Given the description of an element on the screen output the (x, y) to click on. 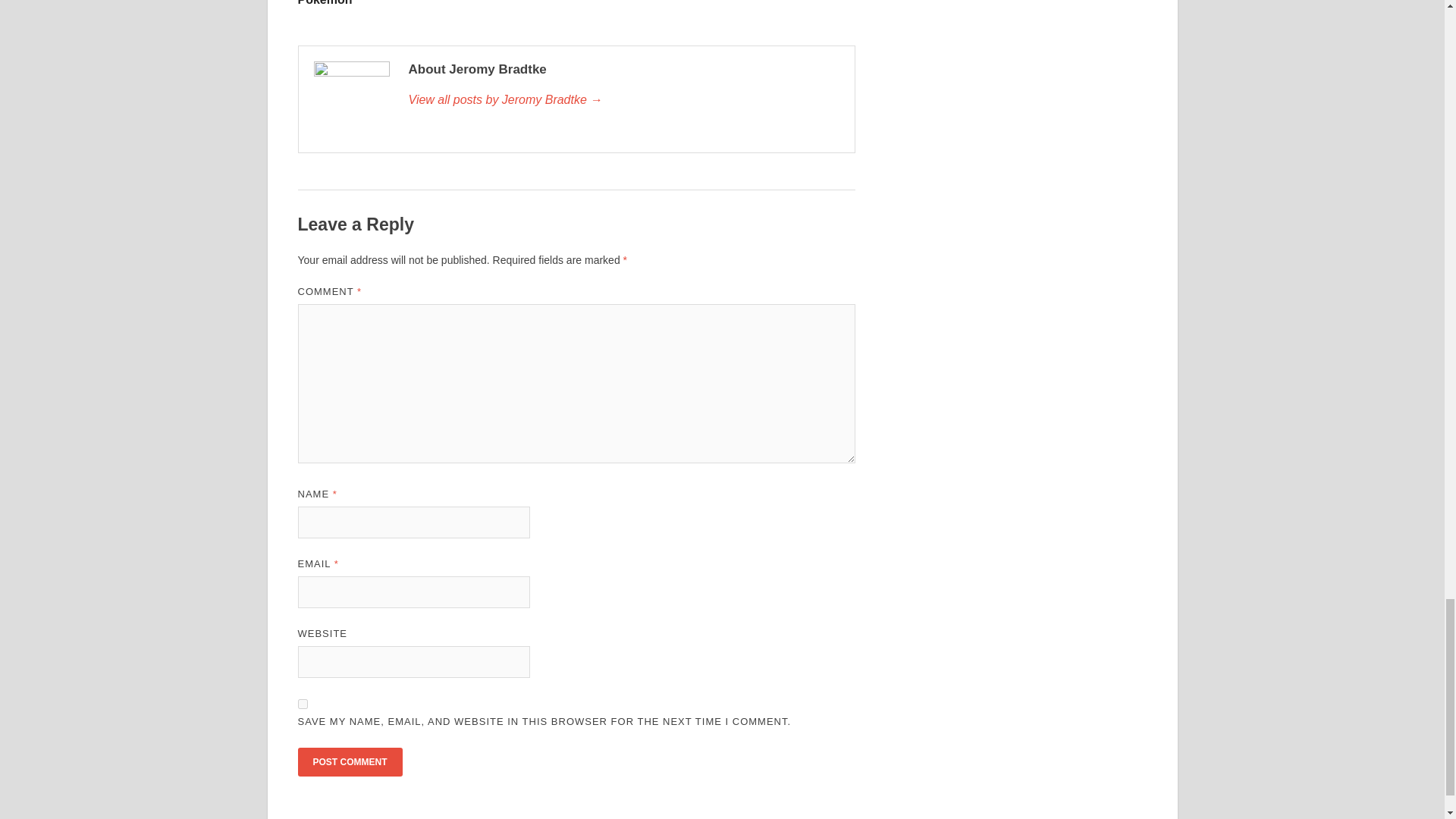
yes (302, 704)
Post Comment (349, 761)
Jeromy Bradtke (622, 99)
Post Comment (349, 761)
